Given the description of an element on the screen output the (x, y) to click on. 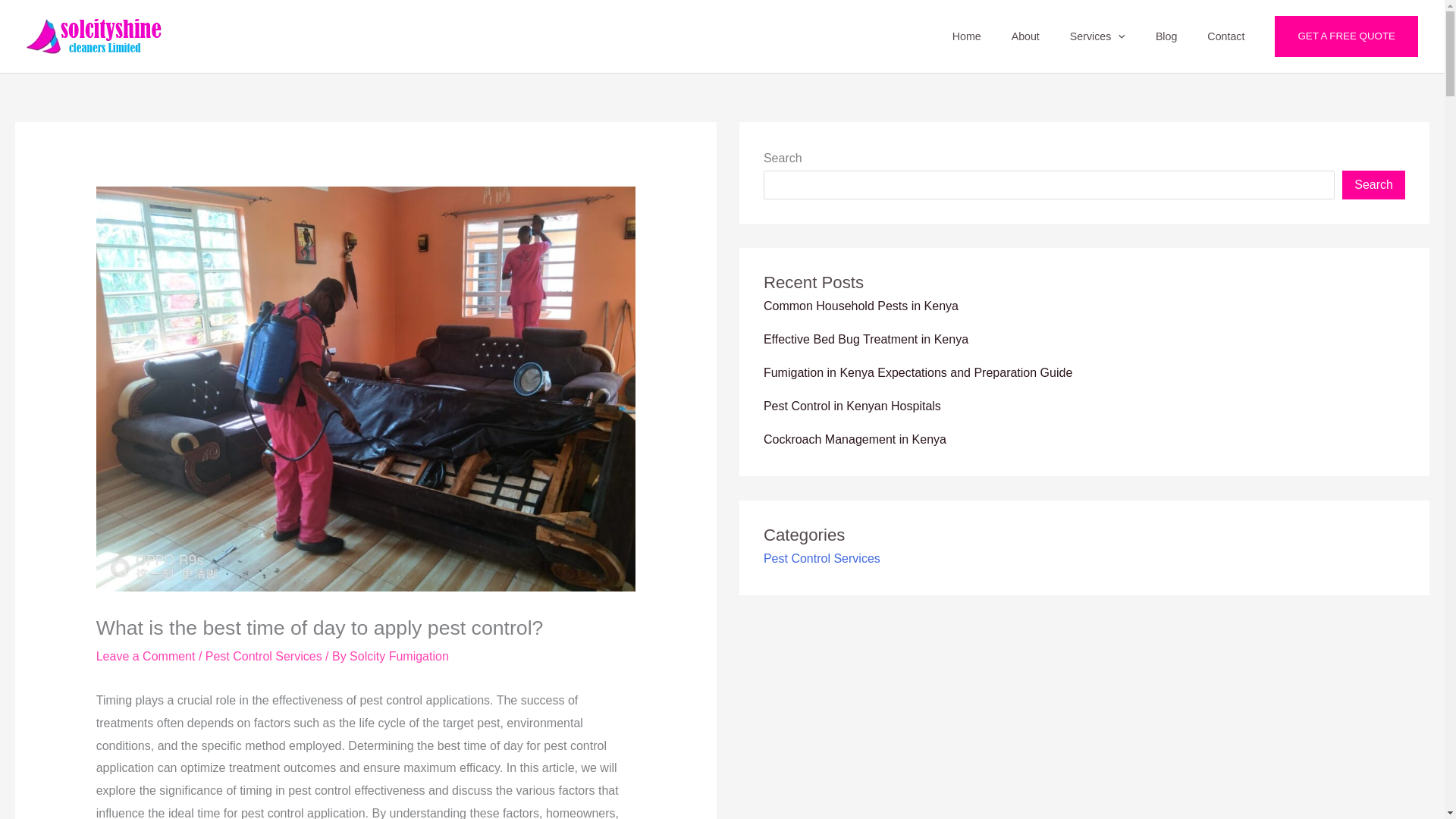
Contact (1225, 36)
Services (1097, 36)
View all posts by Solcity Fumigation (398, 656)
GET A FREE QUOTE (1346, 36)
